Given the description of an element on the screen output the (x, y) to click on. 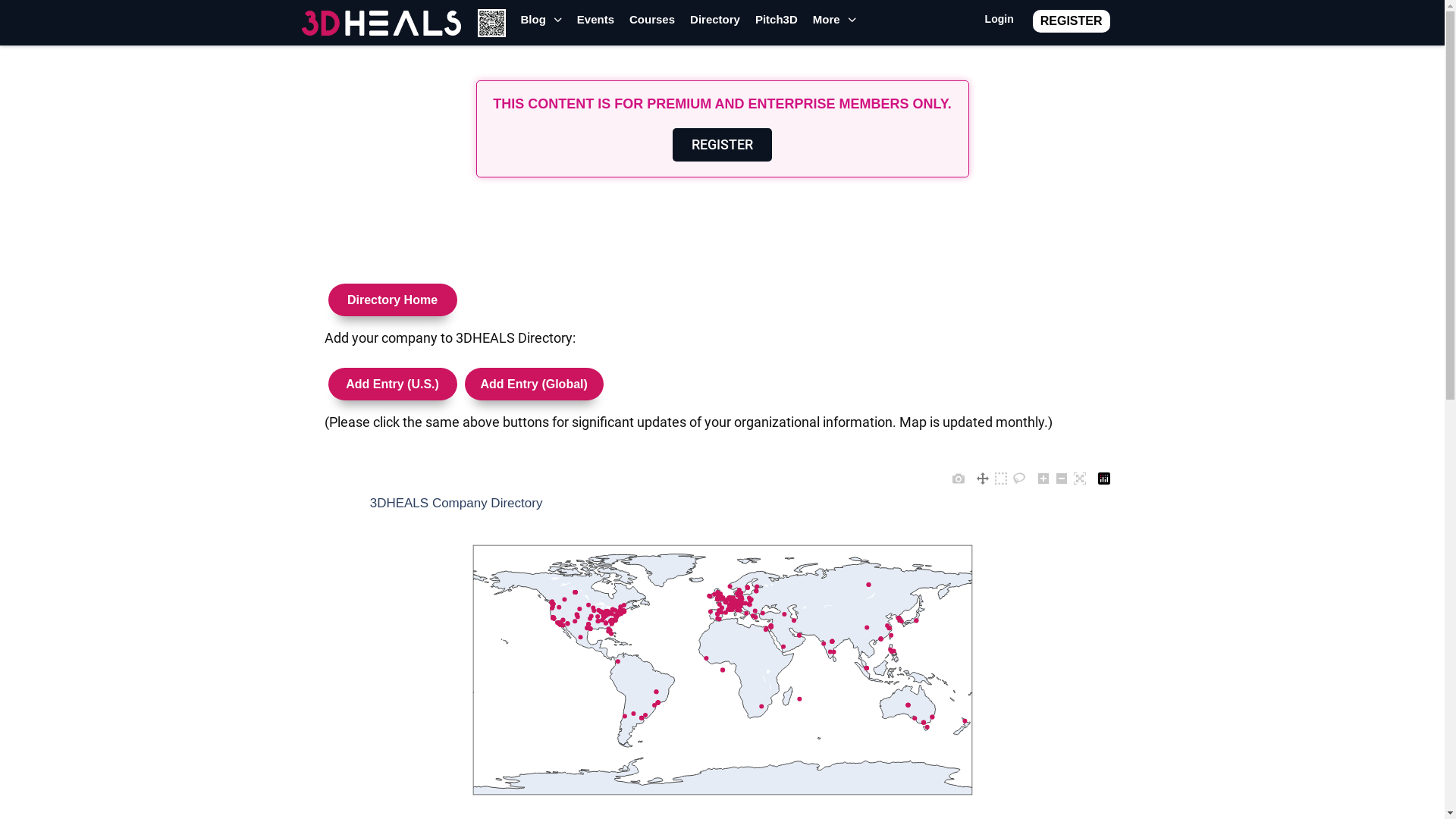
Add Entry (Global) Element type: text (533, 383)
Add Entry (Global) Element type: text (534, 378)
More Element type: text (834, 24)
Directory Element type: text (715, 24)
Pitch3D Element type: text (776, 24)
Directory Home Element type: text (391, 299)
Directory Home Element type: text (392, 294)
Courses Element type: text (651, 24)
REGISTER Element type: text (1071, 20)
Events Element type: text (595, 24)
Add Entry (U.S.) Element type: text (392, 378)
Login Element type: text (999, 22)
REGISTER Element type: text (721, 144)
Blog Element type: text (540, 24)
Add Entry (U.S.) Element type: text (391, 383)
